Given the description of an element on the screen output the (x, y) to click on. 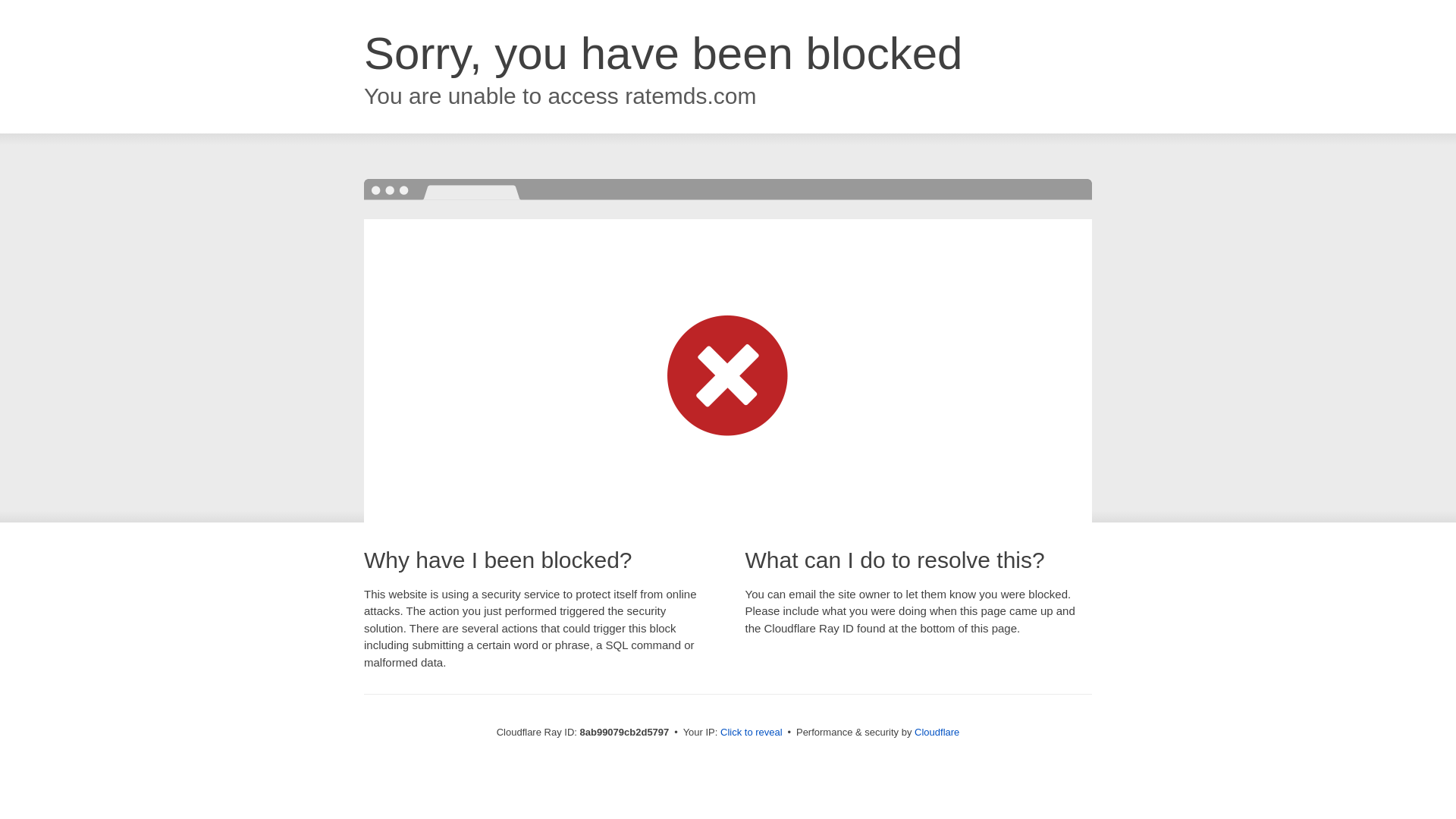
Cloudflare (936, 731)
Click to reveal (751, 732)
